Given the description of an element on the screen output the (x, y) to click on. 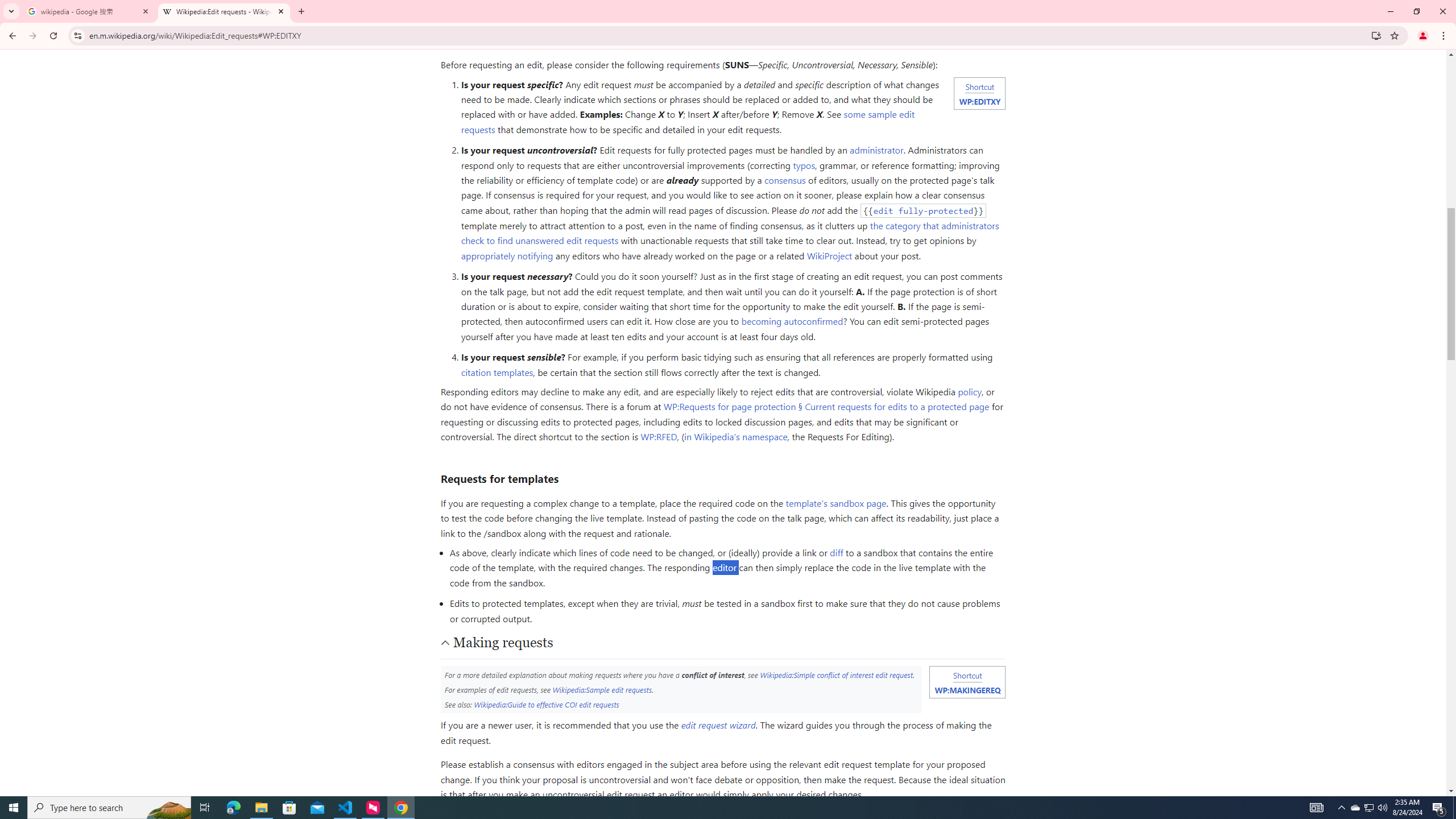
policy (969, 390)
administrator (877, 150)
WP:MAKINGEREQ (967, 689)
Wikipedia:Edit requests - Wikipedia (224, 11)
Shortcut (967, 674)
citation templates (496, 372)
typos (804, 164)
template's sandbox page (835, 502)
appropriately notifying (506, 254)
